Given the description of an element on the screen output the (x, y) to click on. 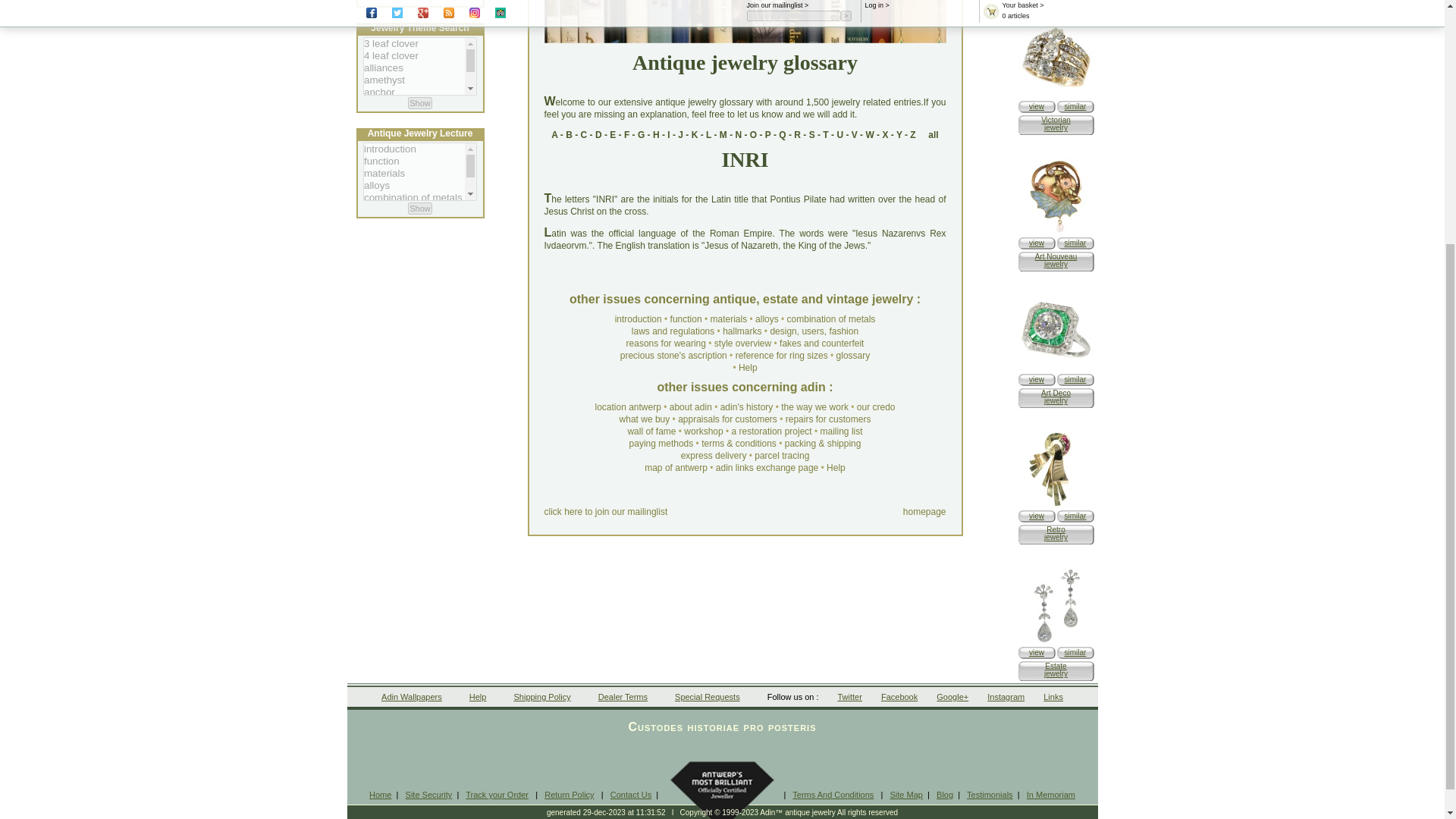
More Art Deco jewelry (1075, 379)
More on this victorian jewel (1055, 94)
More info on this Vintage jewel (1055, 641)
More info on this Art Deco jewel (1036, 379)
More info on this Retro jewel (1055, 504)
More on this victorian jewel (1036, 106)
more victorian jewelry (1075, 106)
Show (419, 208)
More info on this Vintage jewel (1036, 652)
more Art Nouveau jewelry (1075, 243)
More info on this Art Nouveau jewel (1055, 231)
More Retro jewelry (1075, 515)
More Estate jewelry (1075, 652)
More info on this Retro jewel (1036, 515)
More info on this Art Nouveau jewel (1036, 243)
